Given the description of an element on the screen output the (x, y) to click on. 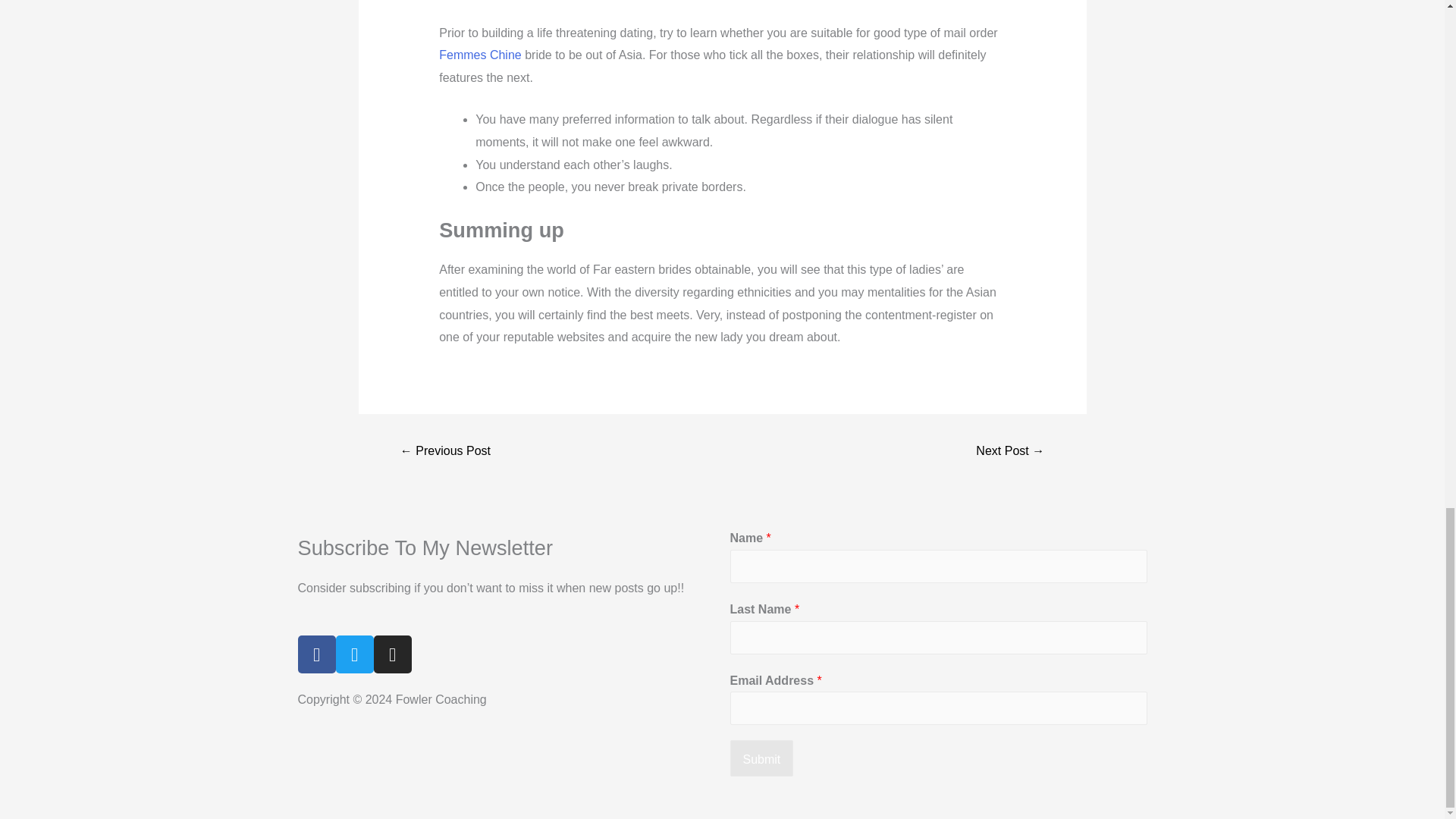
Femmes Chine (480, 54)
Submit (761, 758)
